Given the description of an element on the screen output the (x, y) to click on. 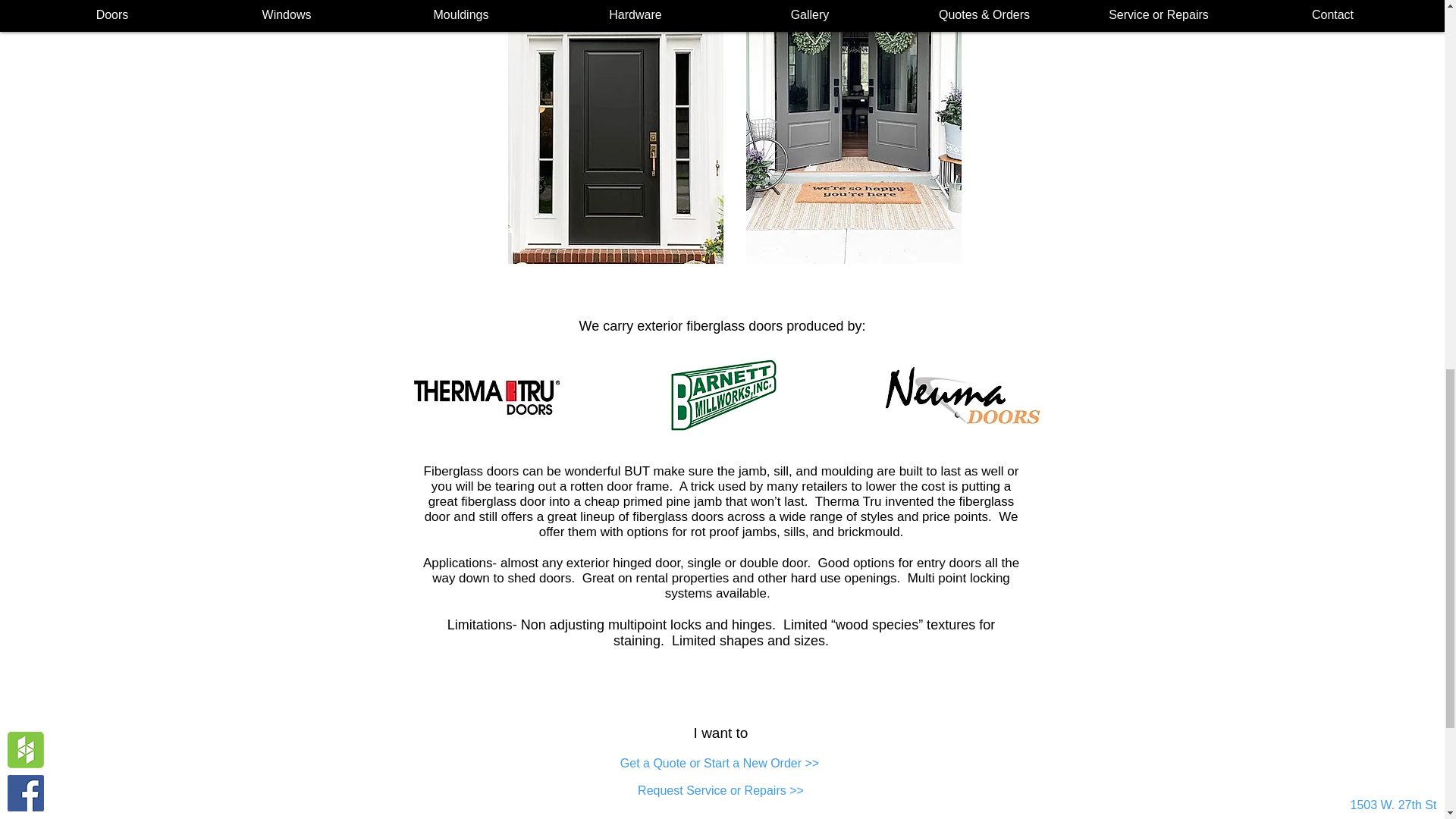
Fiberglass Doors Panama City (615, 131)
Timberland Interior Routed Doors Panama City (721, 395)
Neuma Door Dealer Panama City (962, 395)
Therma Tru Door Dealer Bay County (487, 395)
Fiberglass Doors Panama City (852, 131)
